Given the description of an element on the screen output the (x, y) to click on. 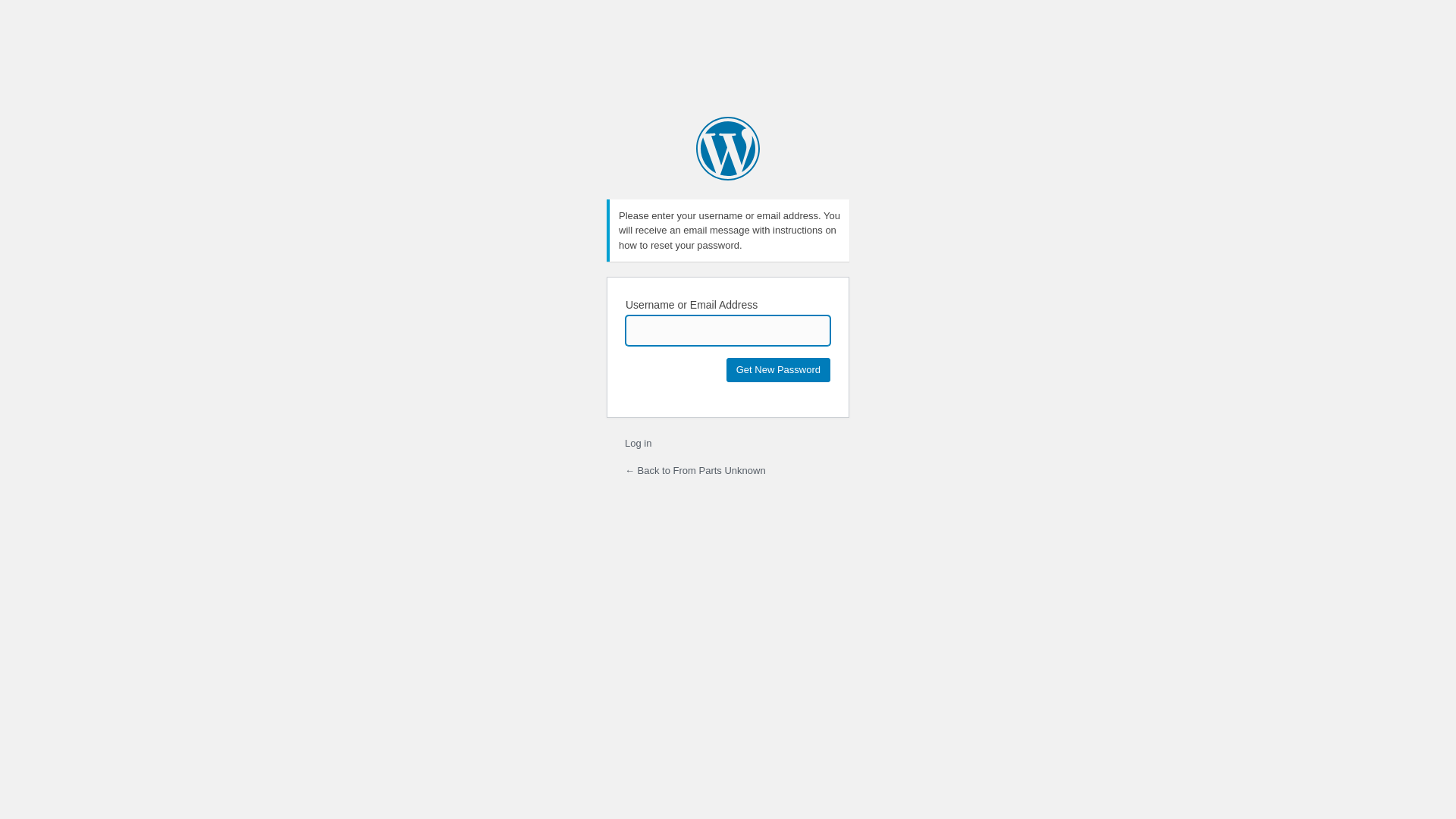
Powered by WordPress Element type: text (727, 148)
Log in Element type: text (637, 442)
Get New Password Element type: text (778, 369)
